Given the description of an element on the screen output the (x, y) to click on. 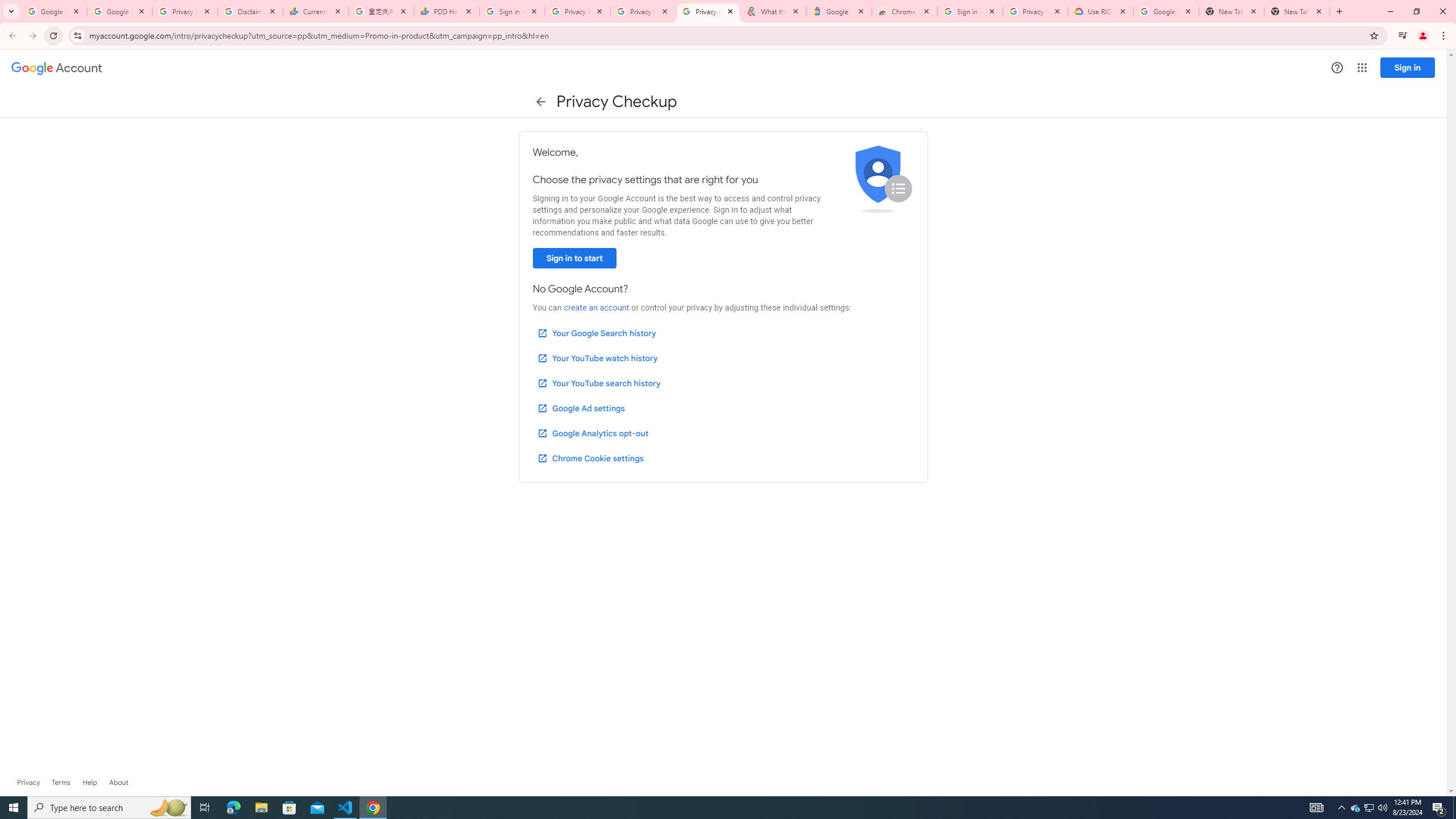
Privacy Checkup (643, 11)
Sign in - Google Accounts (512, 11)
Google Analytics opt-out (592, 433)
Google apps (1362, 67)
